Given the description of an element on the screen output the (x, y) to click on. 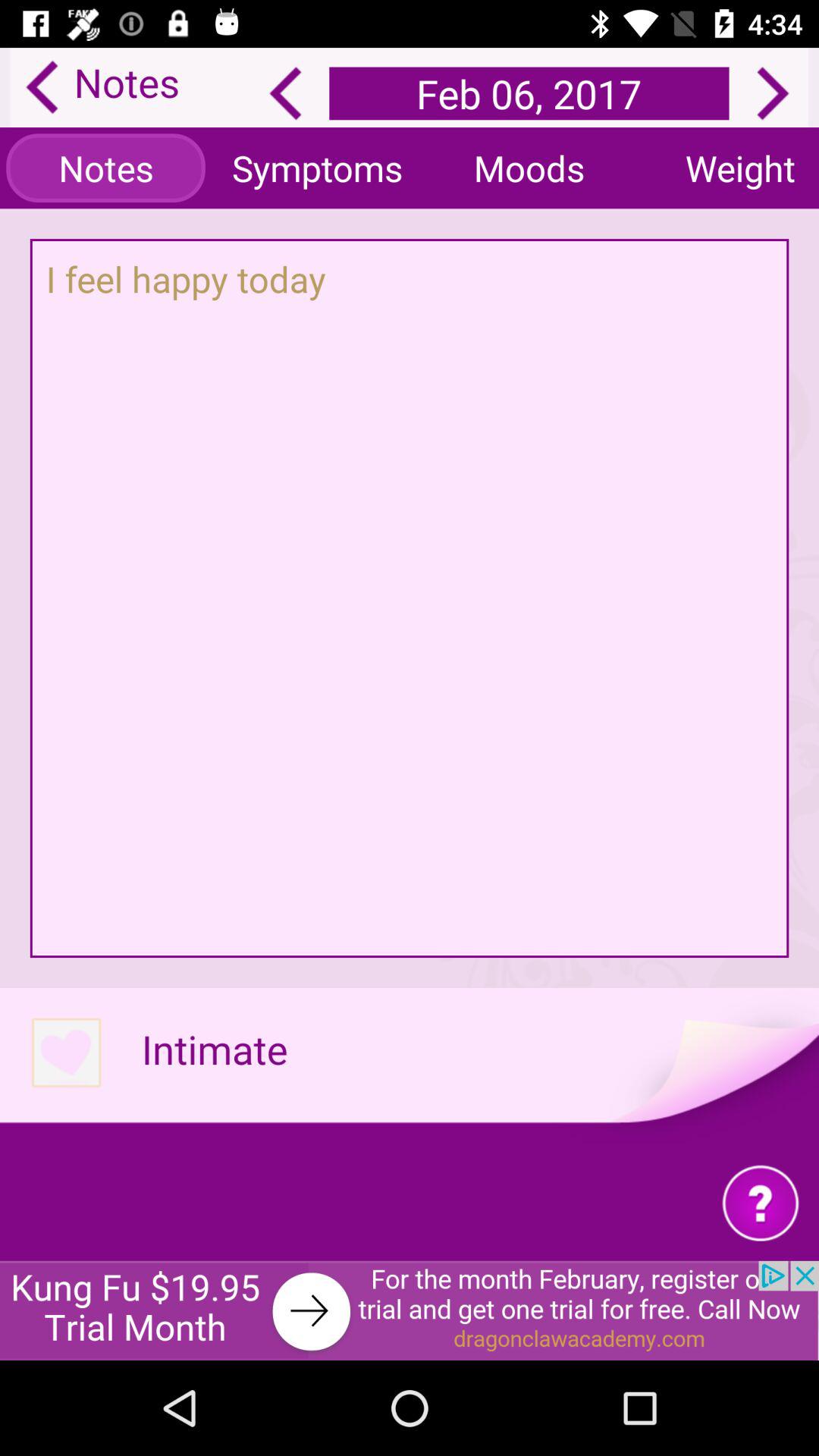
add to favorites (65, 1053)
